Given the description of an element on the screen output the (x, y) to click on. 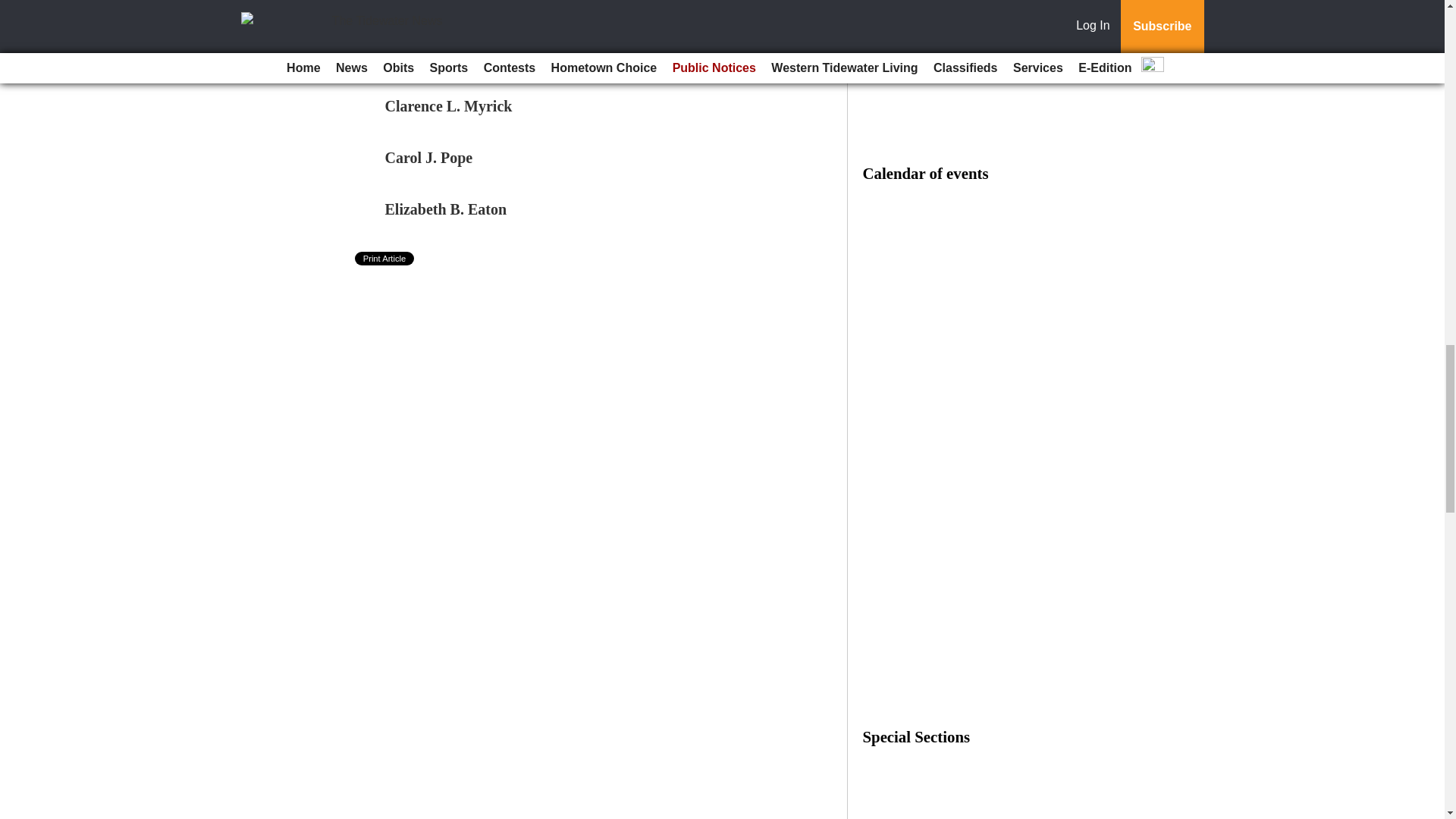
Clarence L. Myrick (448, 105)
Print Article (384, 258)
James R. Kello IV (444, 54)
Clarence L. Myrick (448, 105)
Elizabeth B. Eaton (445, 208)
Carol J. Pope (429, 157)
Elizabeth B. Eaton (445, 208)
Carol J. Pope (429, 157)
James R. Kello IV (444, 54)
